Given the description of an element on the screen output the (x, y) to click on. 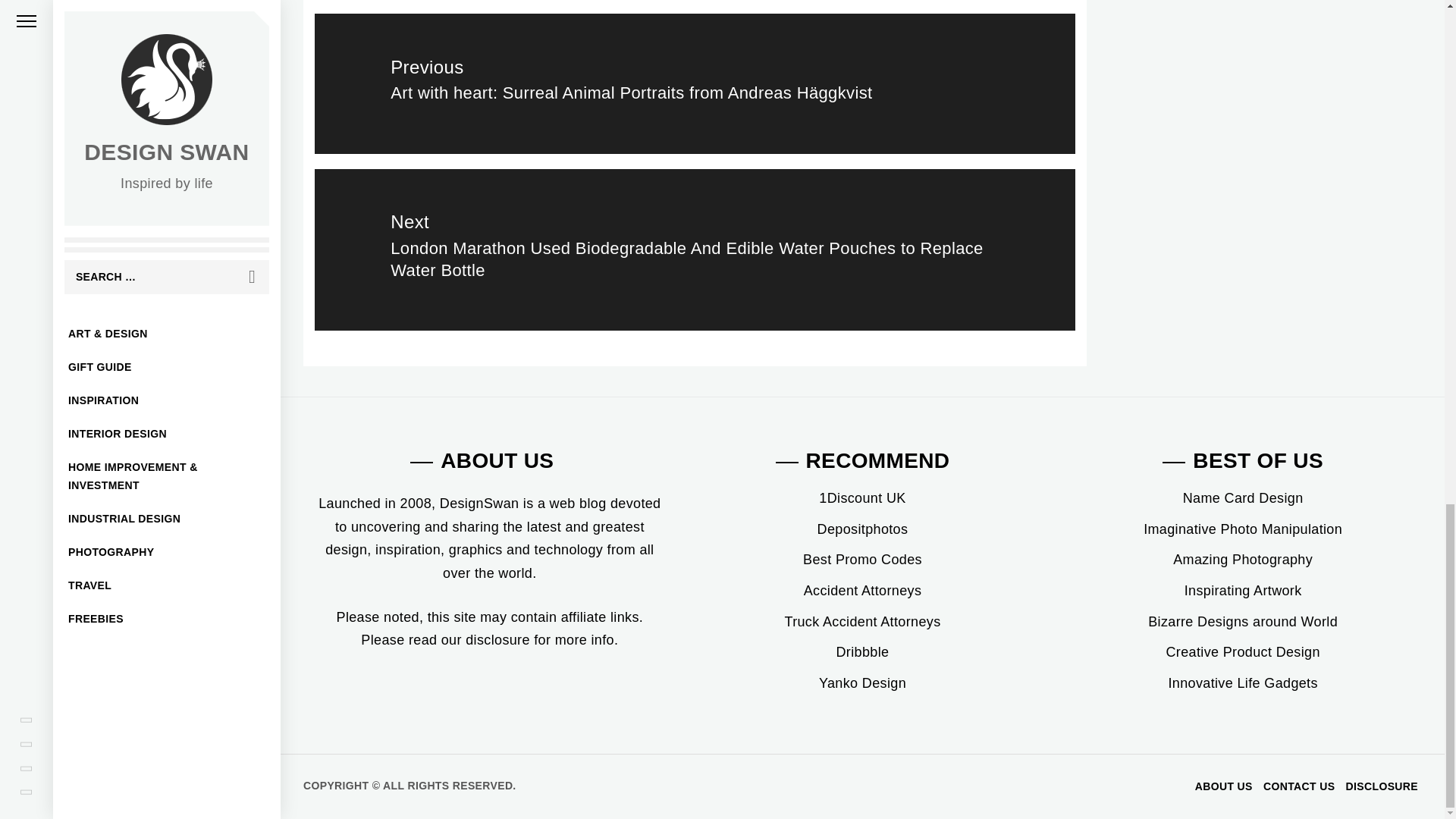
Name Card Design (1242, 498)
UK Voucher Codes (861, 498)
Imaginative Photo Manipulation (1242, 529)
